Given the description of an element on the screen output the (x, y) to click on. 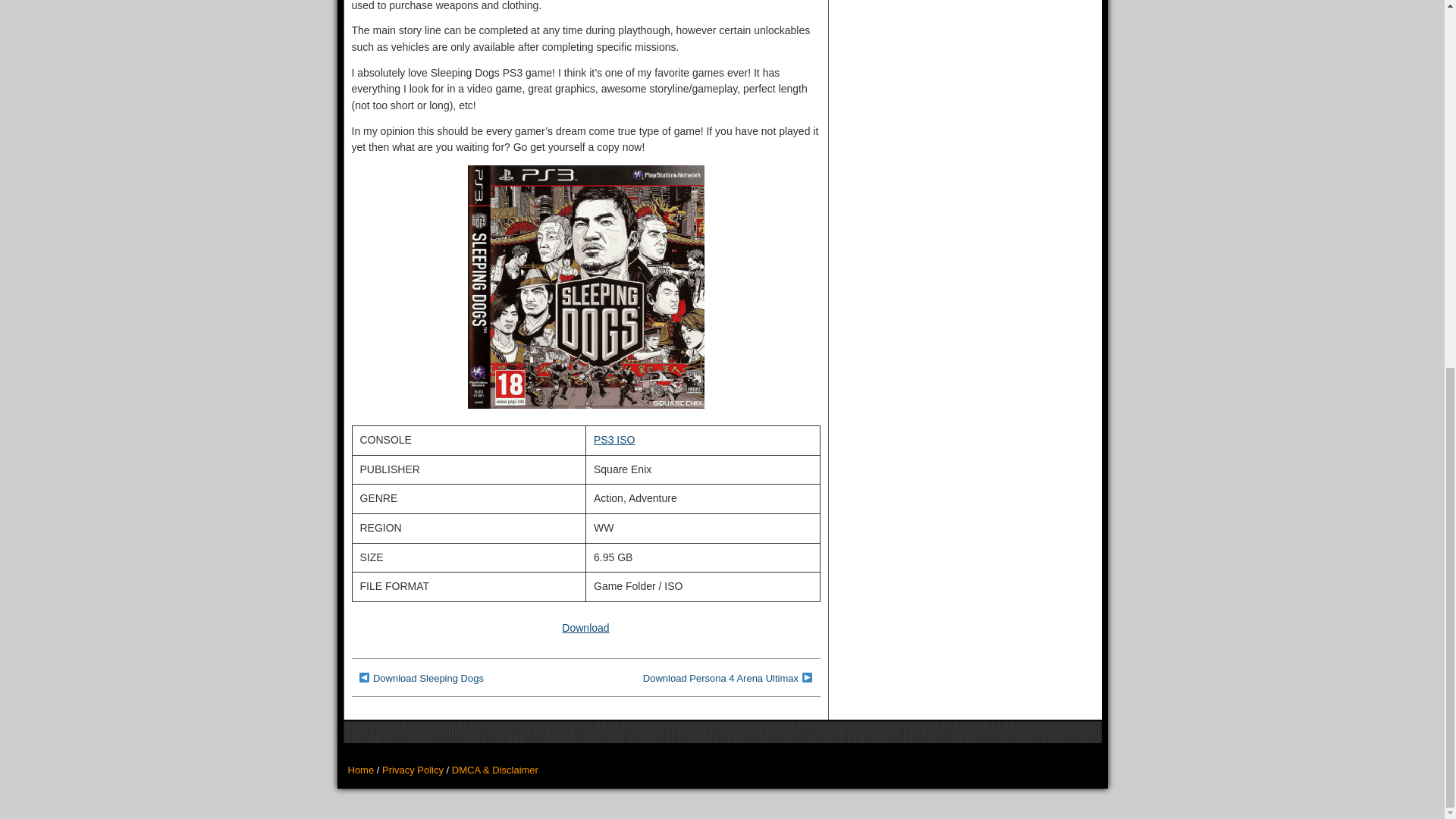
Download Sleeping Dogs (427, 677)
Privacy Policy (412, 769)
Download (585, 627)
Download Persona 4 Arena Ultimax (720, 677)
PS3 ISO (614, 439)
Home (360, 769)
